Given the description of an element on the screen output the (x, y) to click on. 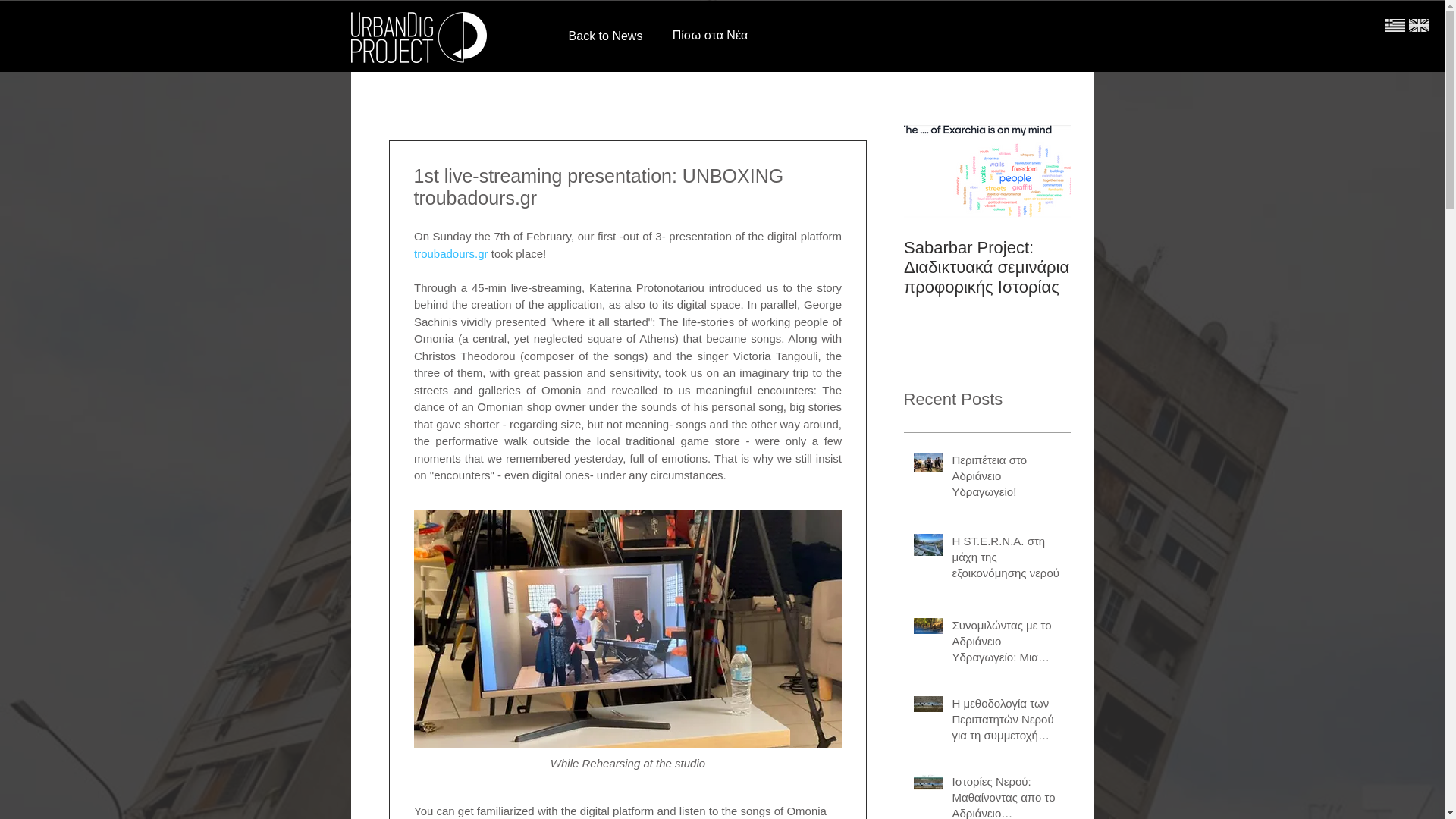
troubadours.gr (450, 253)
Back to News (604, 36)
